Given the description of an element on the screen output the (x, y) to click on. 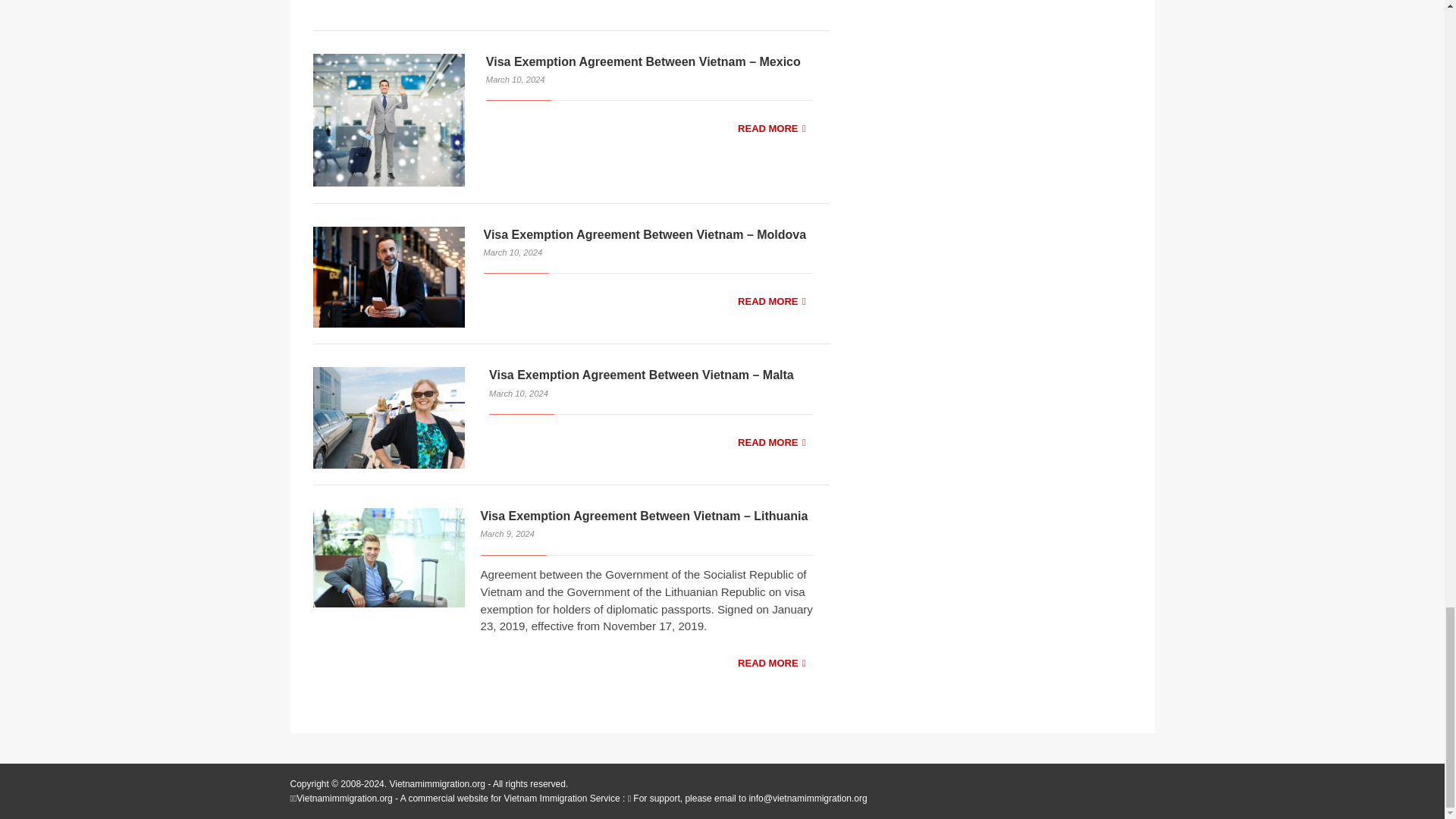
READ MORE (771, 442)
READ MORE (771, 4)
READ MORE (771, 302)
READ MORE (771, 129)
